Given the description of an element on the screen output the (x, y) to click on. 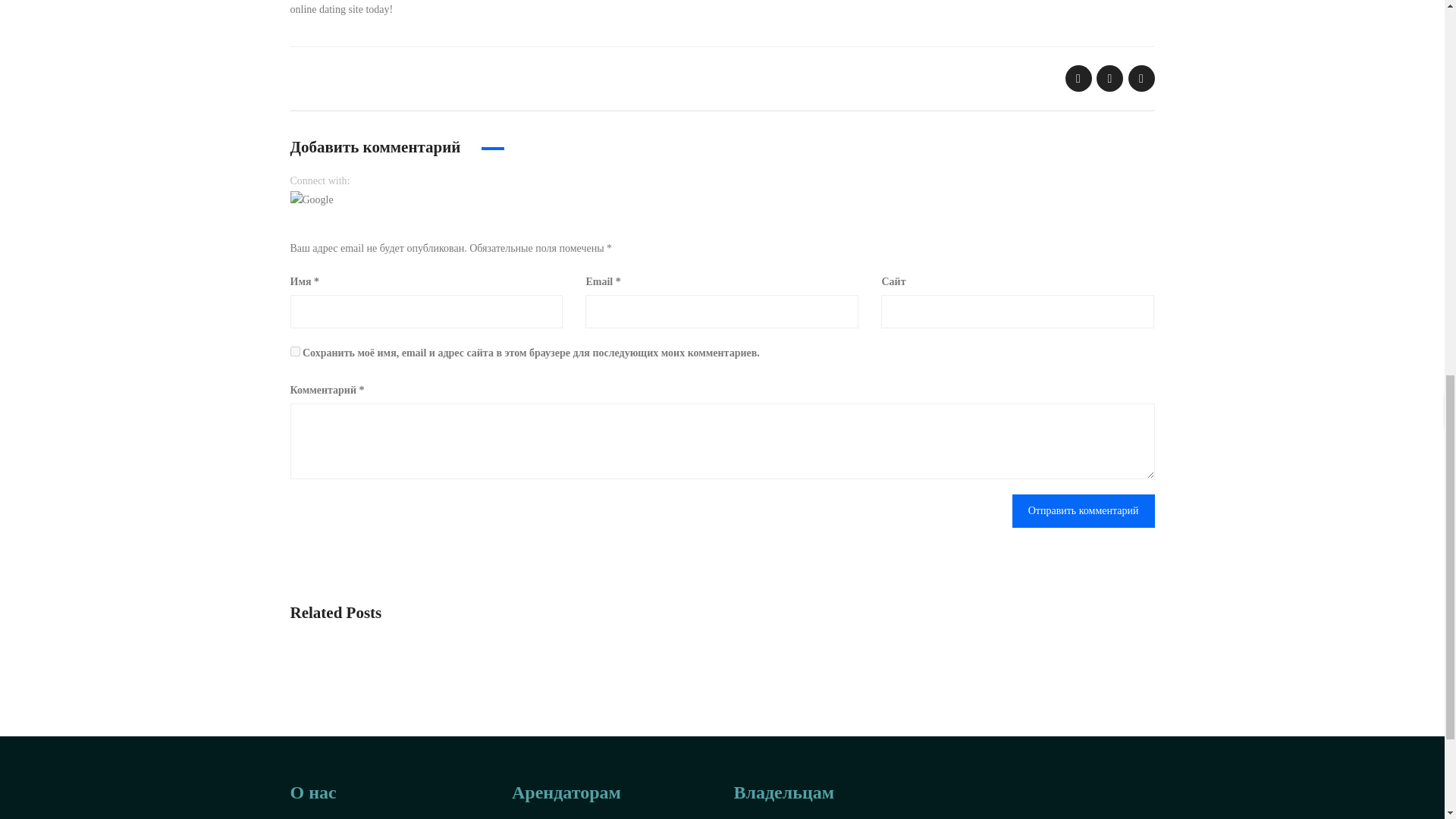
Connect with Google (311, 198)
yes (294, 351)
